Given the description of an element on the screen output the (x, y) to click on. 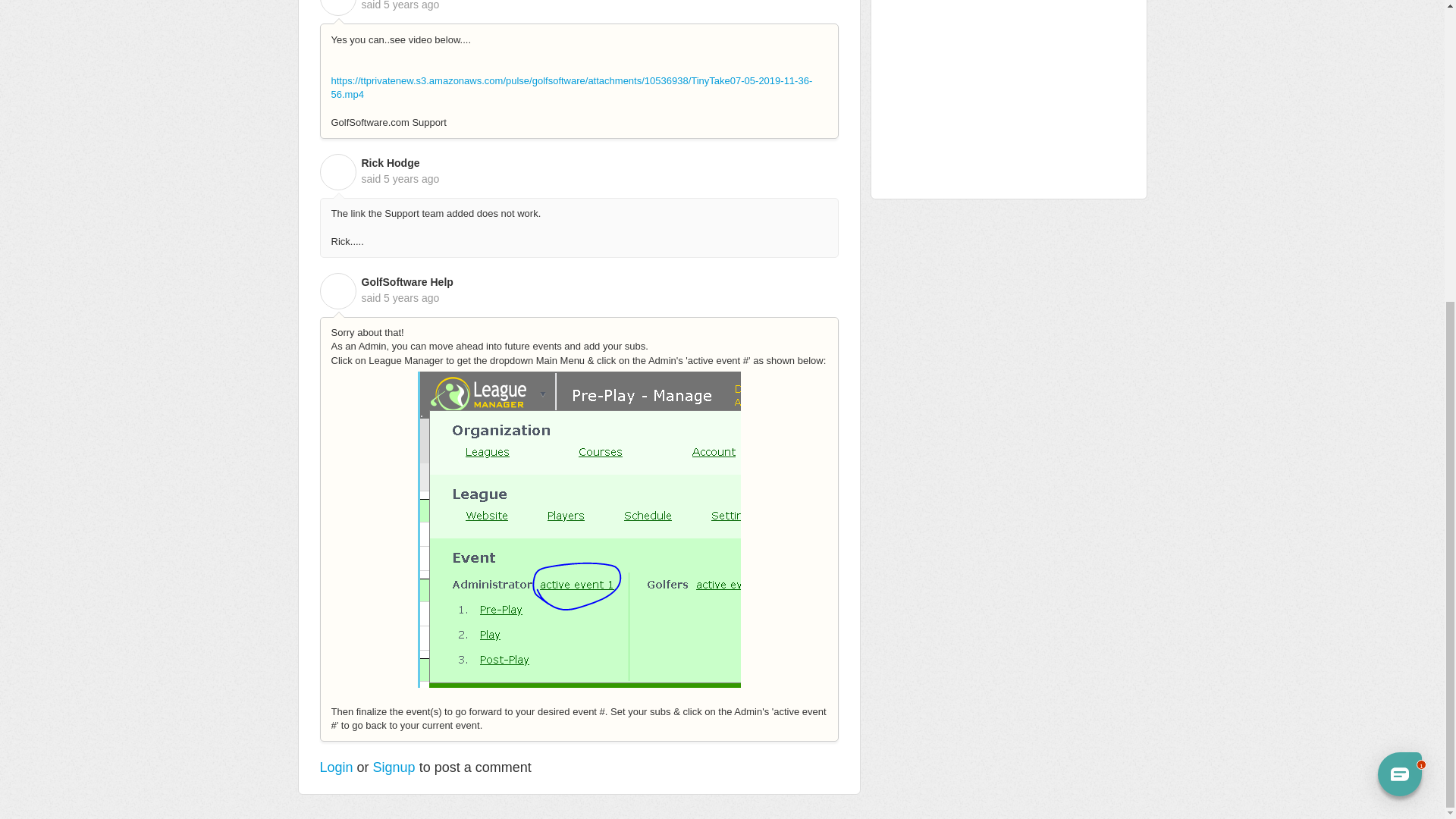
Thu, 20 Jun, 2019 at 12:05 PM (411, 178)
Login (336, 767)
Mon, 24 Jun, 2019 at  3:25 PM (411, 297)
Signup (393, 767)
Wed, 22 May, 2019 at  2:45 PM (411, 5)
